Given the description of an element on the screen output the (x, y) to click on. 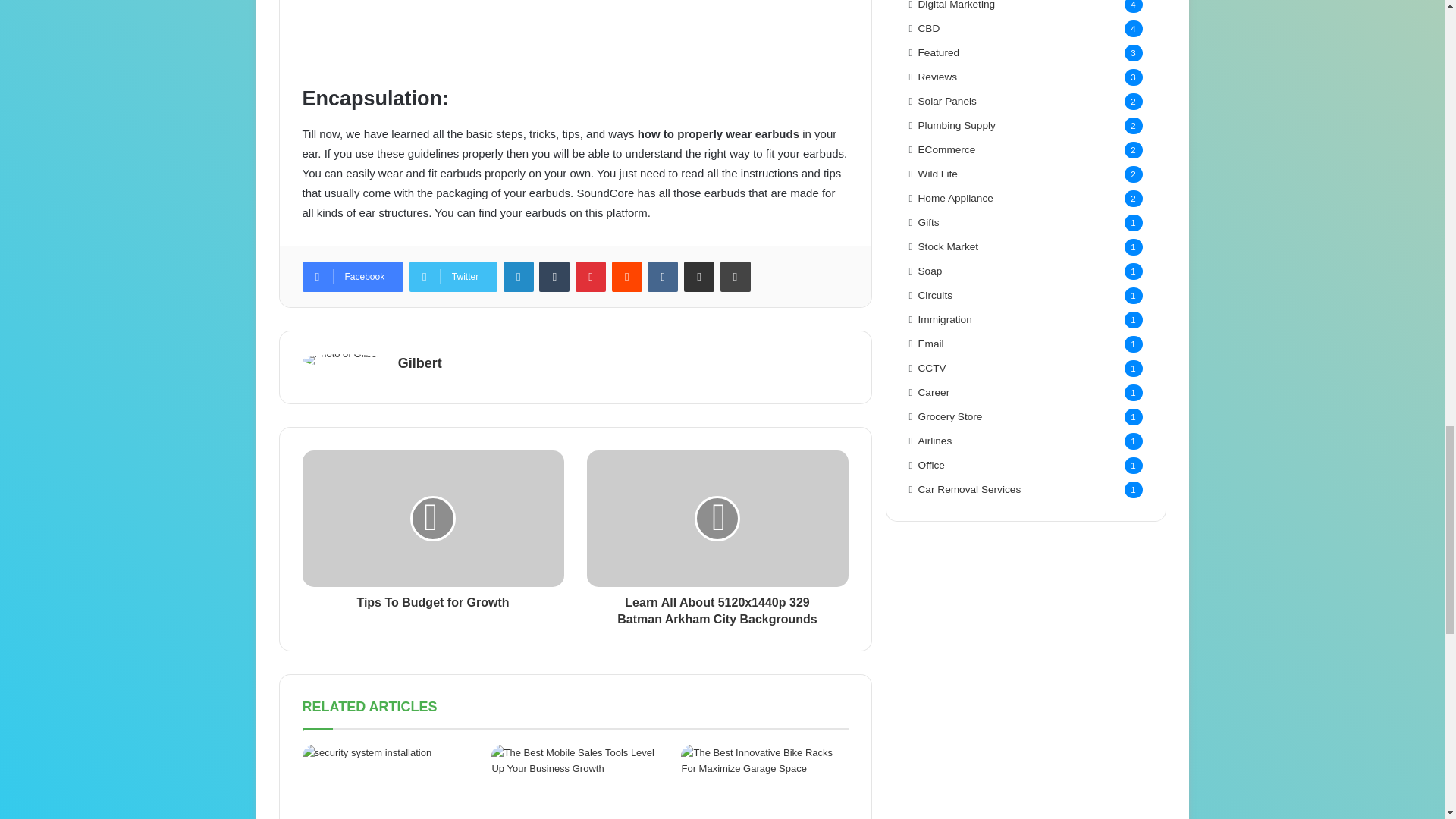
Share via Email (699, 276)
LinkedIn (518, 276)
Featured posts (938, 52)
VKontakte (662, 276)
Reddit (626, 276)
Tumblr (553, 276)
Pinterest (590, 276)
Twitter (453, 276)
Pinterest (590, 276)
Facebook (352, 276)
Facebook (352, 276)
Tumblr (553, 276)
Print (735, 276)
Reddit (626, 276)
Share via Email (699, 276)
